Given the description of an element on the screen output the (x, y) to click on. 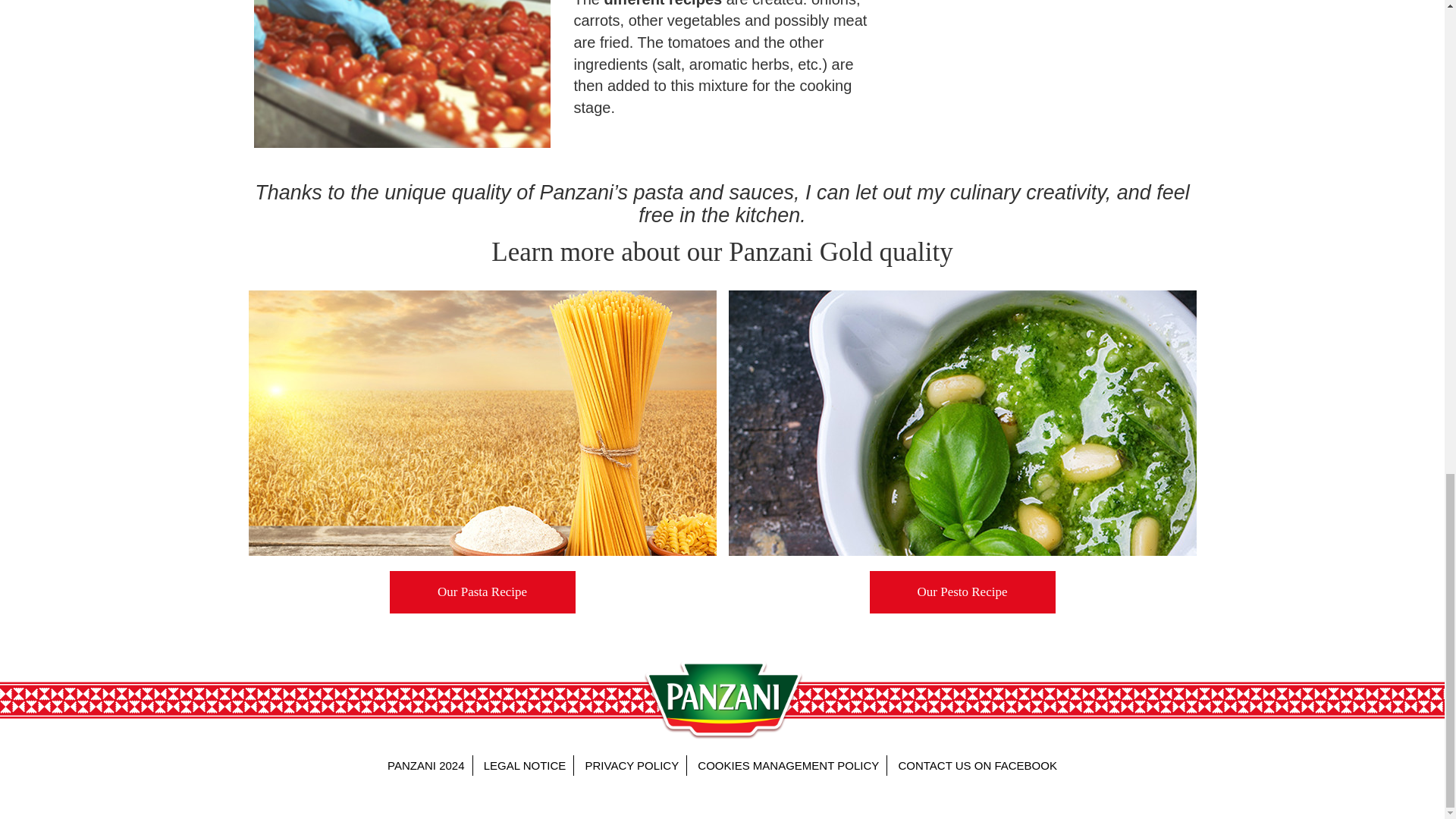
Our Pasta Recipe (482, 592)
LEGAL NOTICE (525, 765)
CONTACT US ON FACEBOOK (976, 765)
COOKIES MANAGEMENT POLICY (788, 765)
PRIVACY POLICY (631, 765)
Our Pesto Recipe (961, 592)
